Given the description of an element on the screen output the (x, y) to click on. 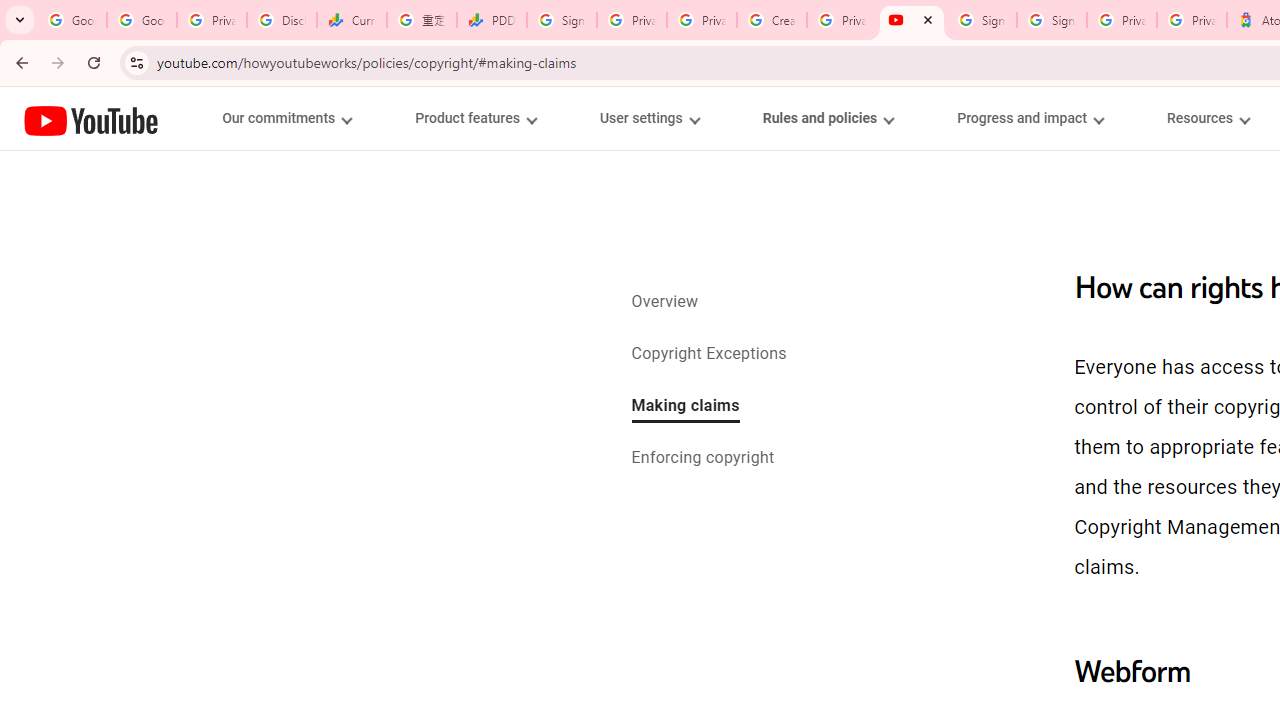
Progress and impact menupopup (1030, 118)
Google Workspace Admin Community (72, 20)
Sign in - Google Accounts (561, 20)
JUMP TO CONTENT (209, 119)
